Given the description of an element on the screen output the (x, y) to click on. 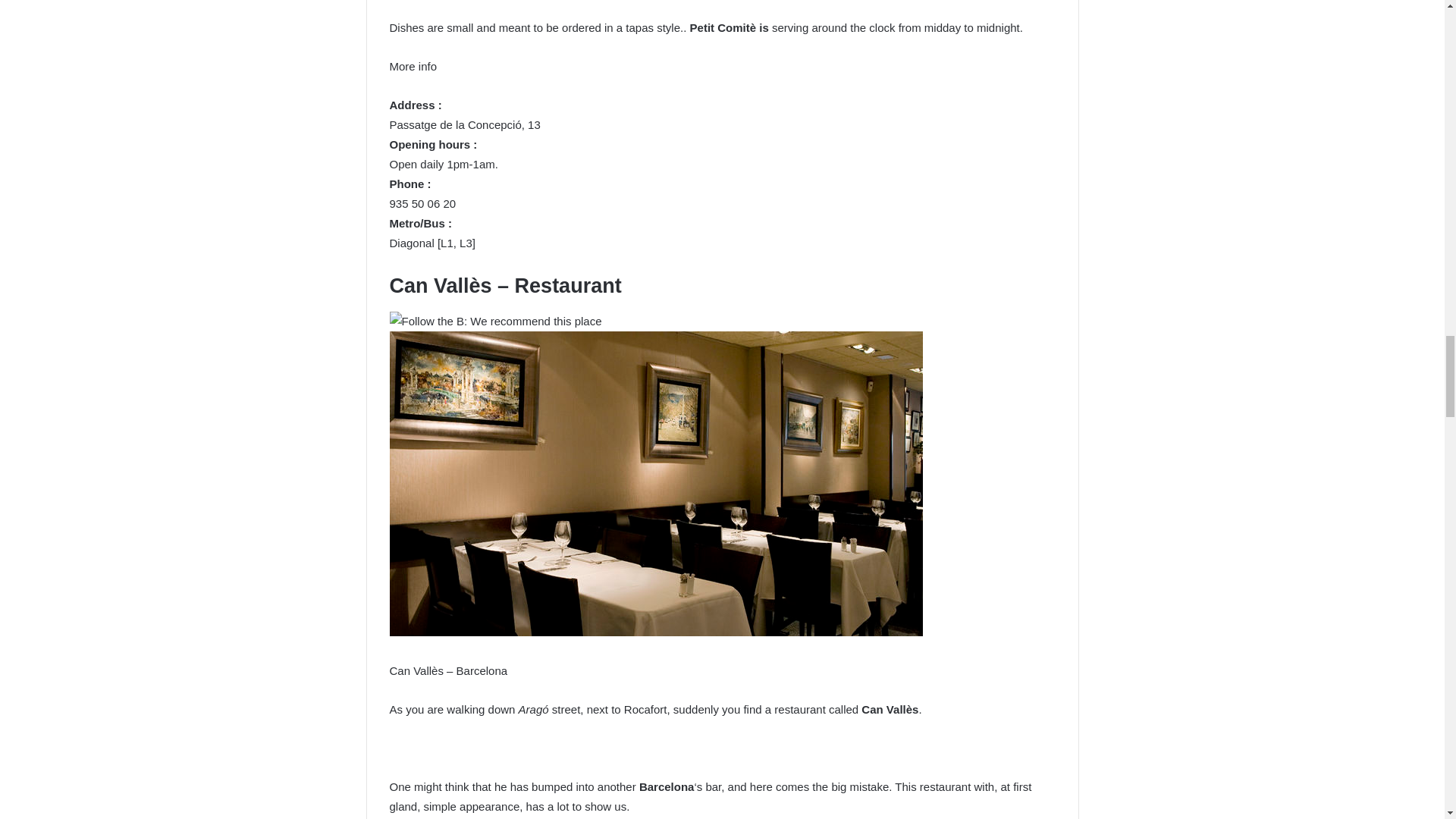
Follow the B: We recommend this place (496, 321)
